Given the description of an element on the screen output the (x, y) to click on. 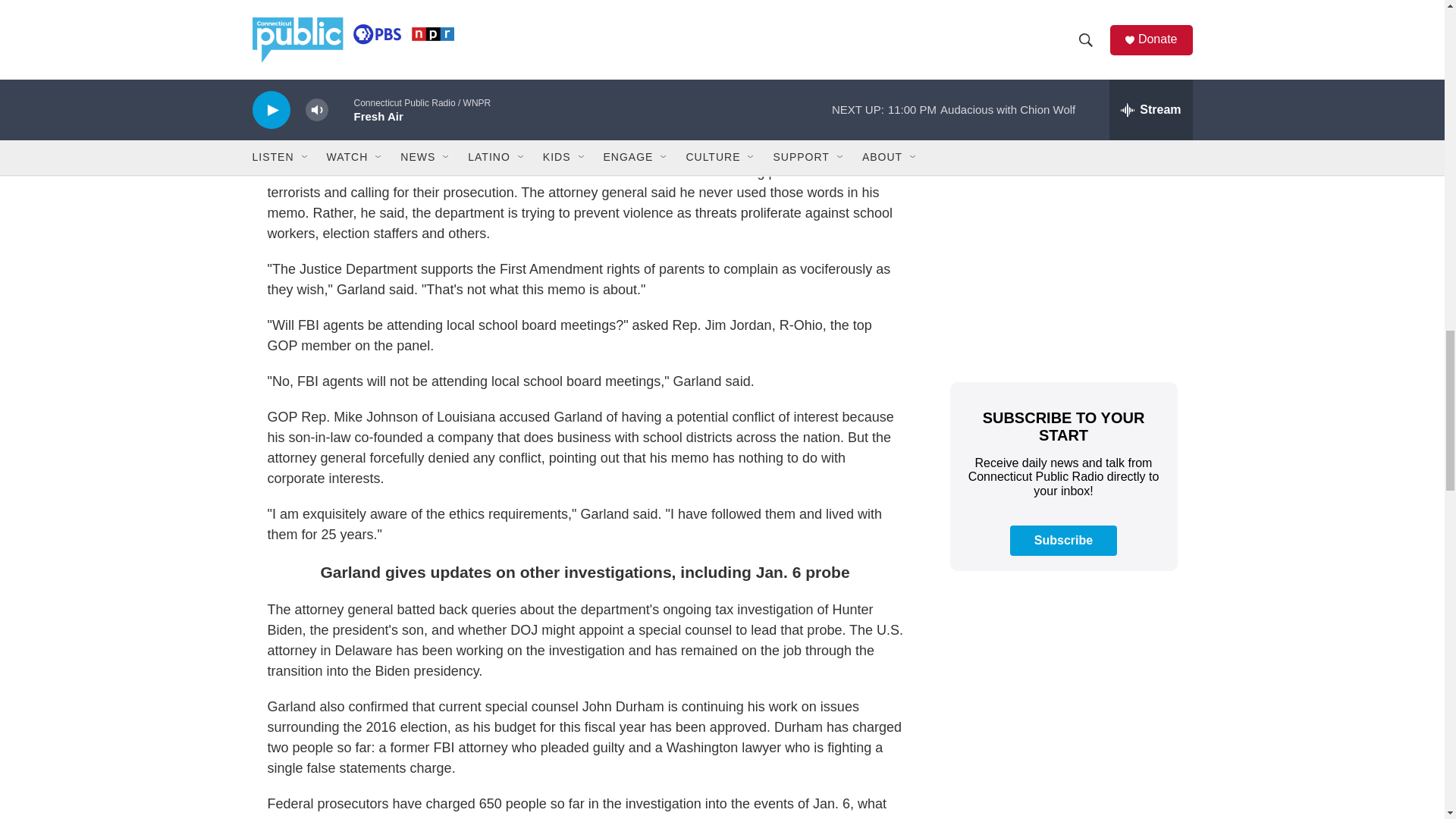
3rd party ad content (1062, 257)
3rd party ad content (1062, 65)
3rd party ad content (1062, 696)
